Given the description of an element on the screen output the (x, y) to click on. 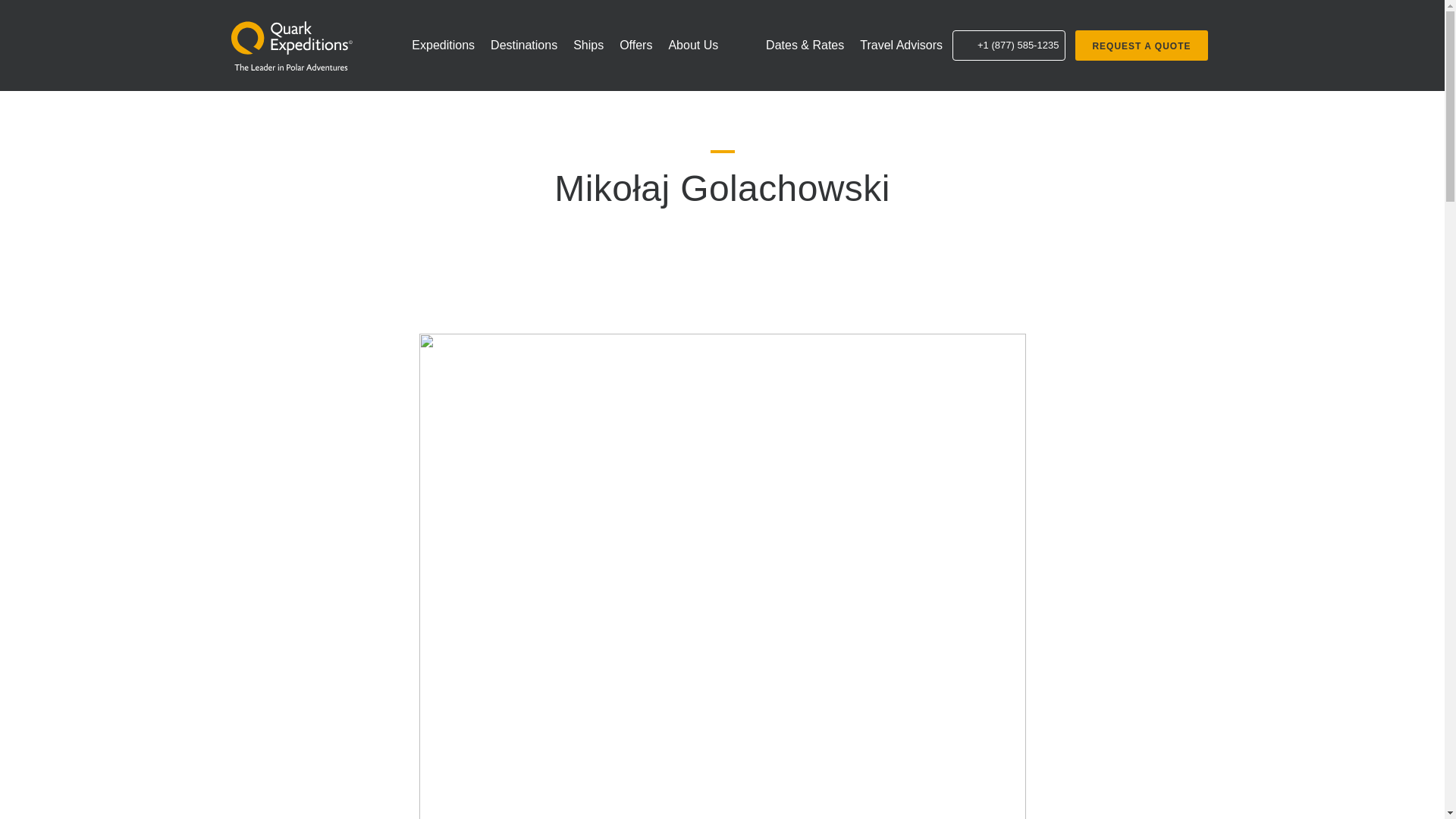
REQUEST A QUOTE (1141, 45)
Ships (588, 45)
Destinations (523, 45)
Expeditions (291, 50)
Skip to main content (443, 45)
Travel Advisors (291, 50)
About Us (901, 45)
Offers (692, 45)
